Given the description of an element on the screen output the (x, y) to click on. 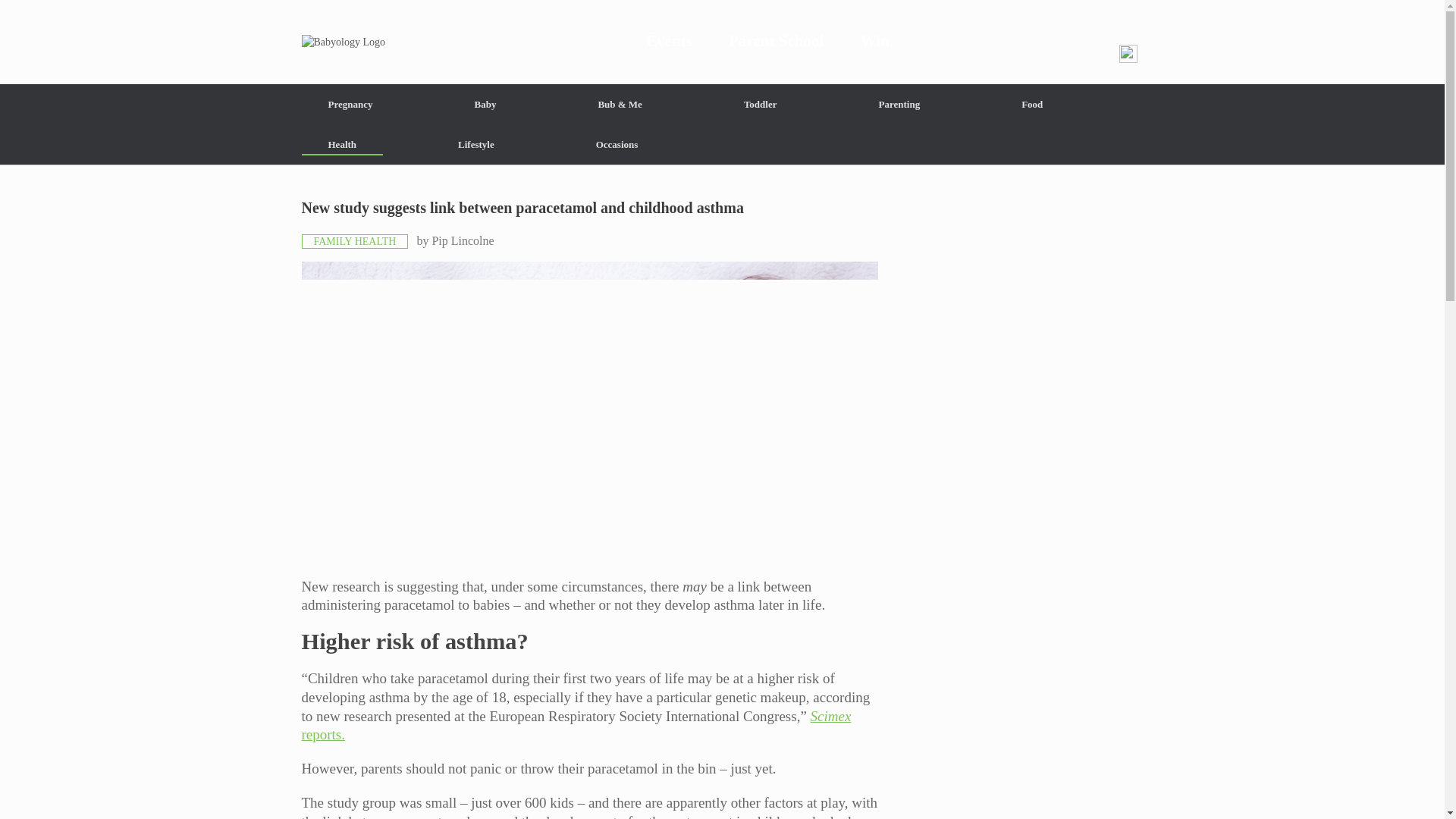
FAMILY HEALTH (355, 241)
Pip Lincolne (461, 240)
Occasions (617, 144)
Events (669, 41)
Toddler (760, 104)
View all posts by Pip Lincolne (461, 240)
Parent School (776, 41)
Scimex reports. (576, 725)
Food (1031, 104)
Parenting (898, 104)
